Given the description of an element on the screen output the (x, y) to click on. 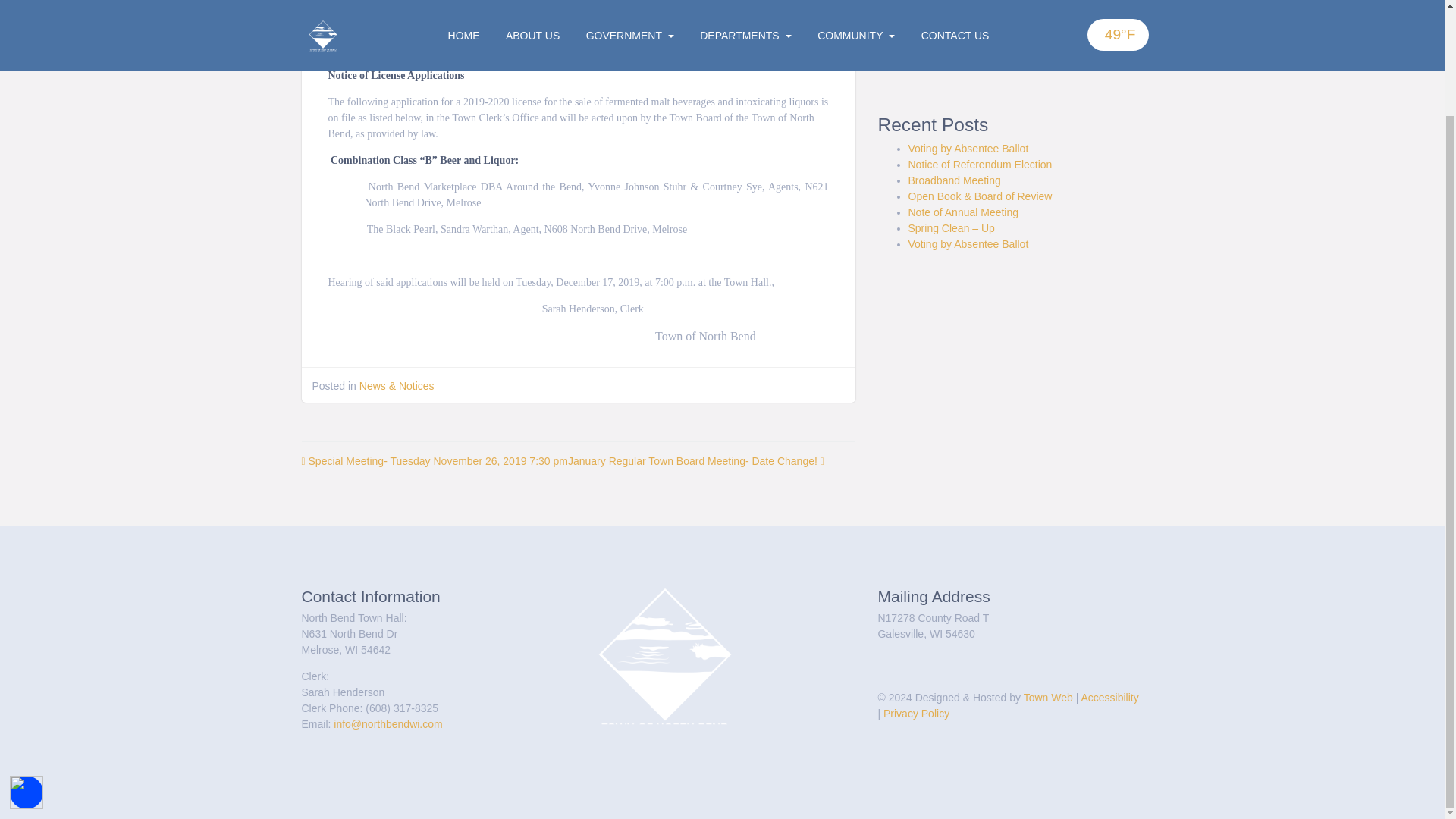
Important Community (959, 31)
Notice of Referendum Election (980, 164)
 Special Meeting- Tuesday November 26, 2019 7:30 pm (434, 460)
Voting by Absentee Ballot (968, 148)
December 10, 2019 (431, 12)
January Regular Town Board Meeting- Date Change!  (695, 460)
Accessibility Menu (26, 668)
Uncategorized (942, 63)
Spotlight (928, 15)
townweb (521, 12)
